Given the description of an element on the screen output the (x, y) to click on. 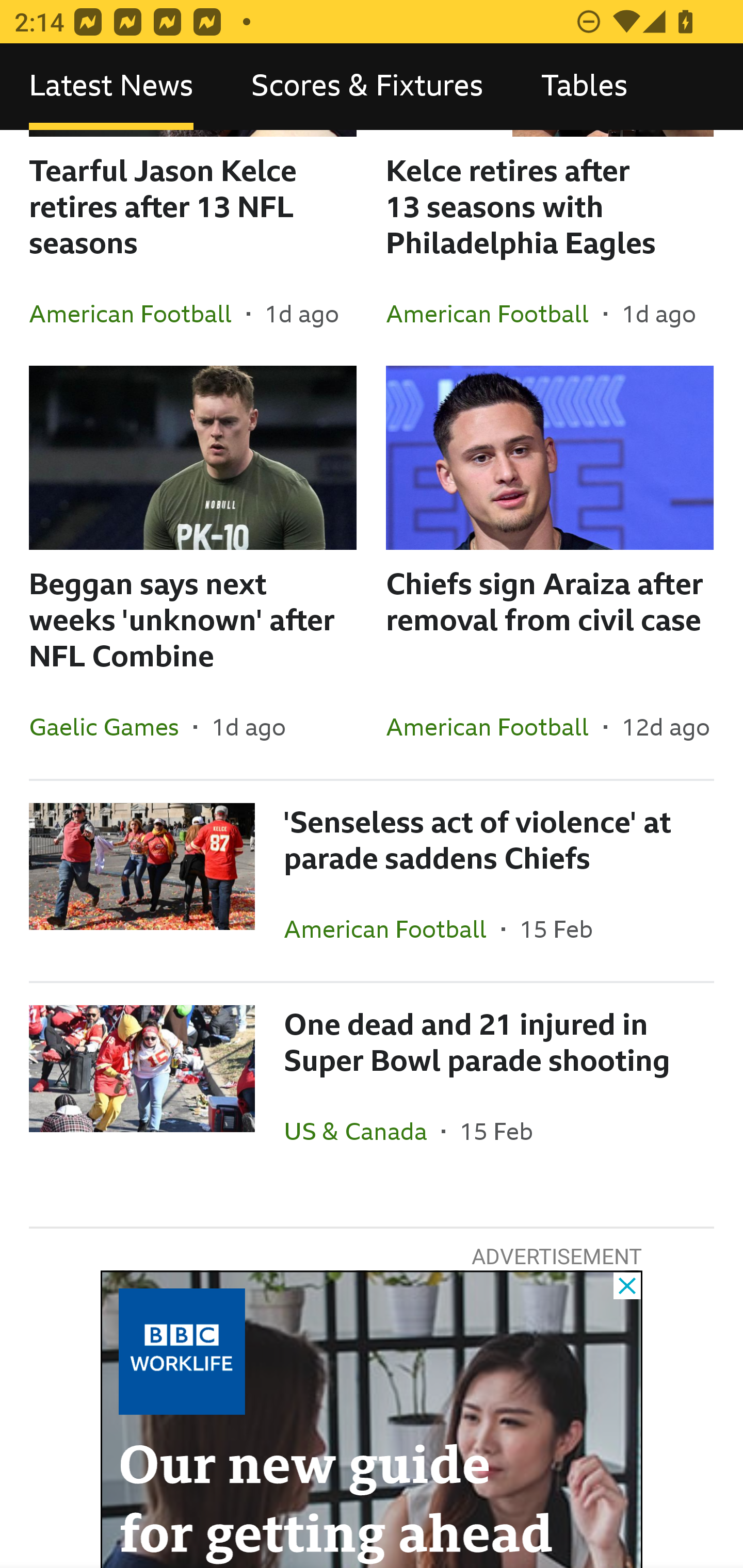
Latest News, selected Latest News (111, 86)
Scores & Fixtures (367, 86)
Tables (584, 86)
Gaelic Games In the section Gaelic Games (110, 726)
US & Canada In the section US & Canada (362, 1130)
